Given the description of an element on the screen output the (x, y) to click on. 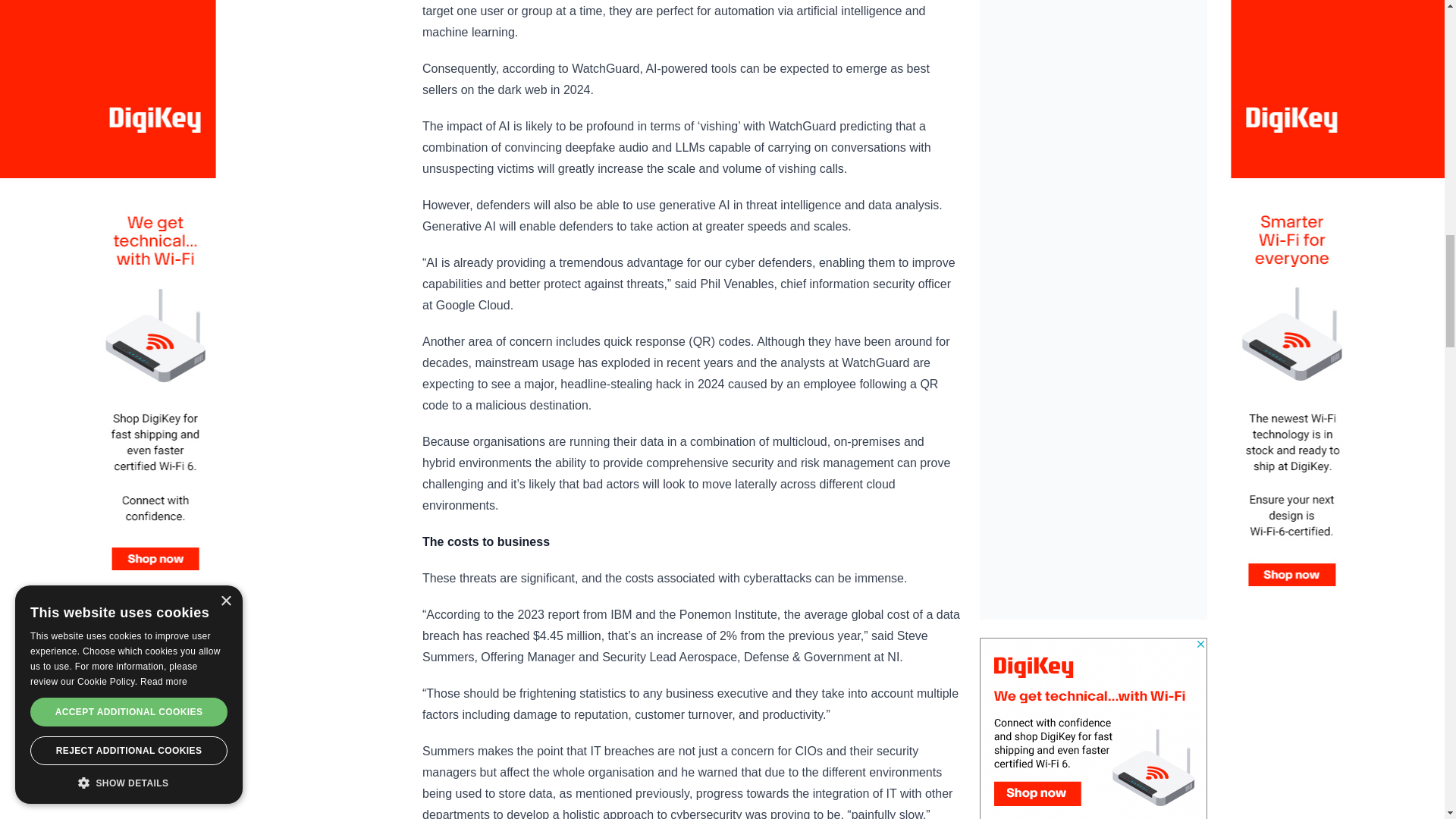
3rd party ad content (1093, 87)
3rd party ad content (1093, 728)
